Given the description of an element on the screen output the (x, y) to click on. 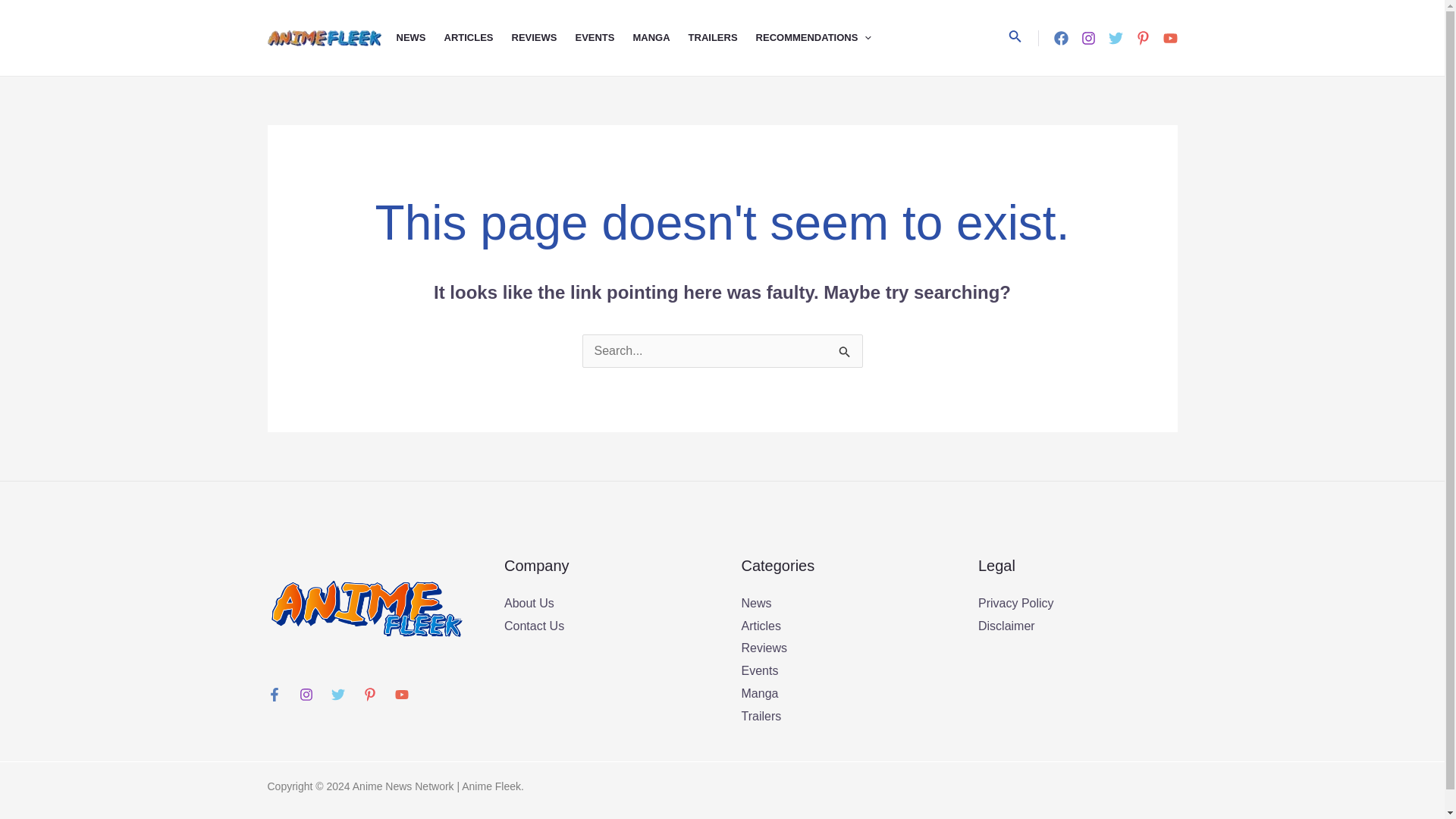
Search (844, 350)
TRAILERS (721, 38)
Search (844, 350)
Search (844, 350)
ARTICLES (478, 38)
RECOMMENDATIONS (822, 38)
